Given the description of an element on the screen output the (x, y) to click on. 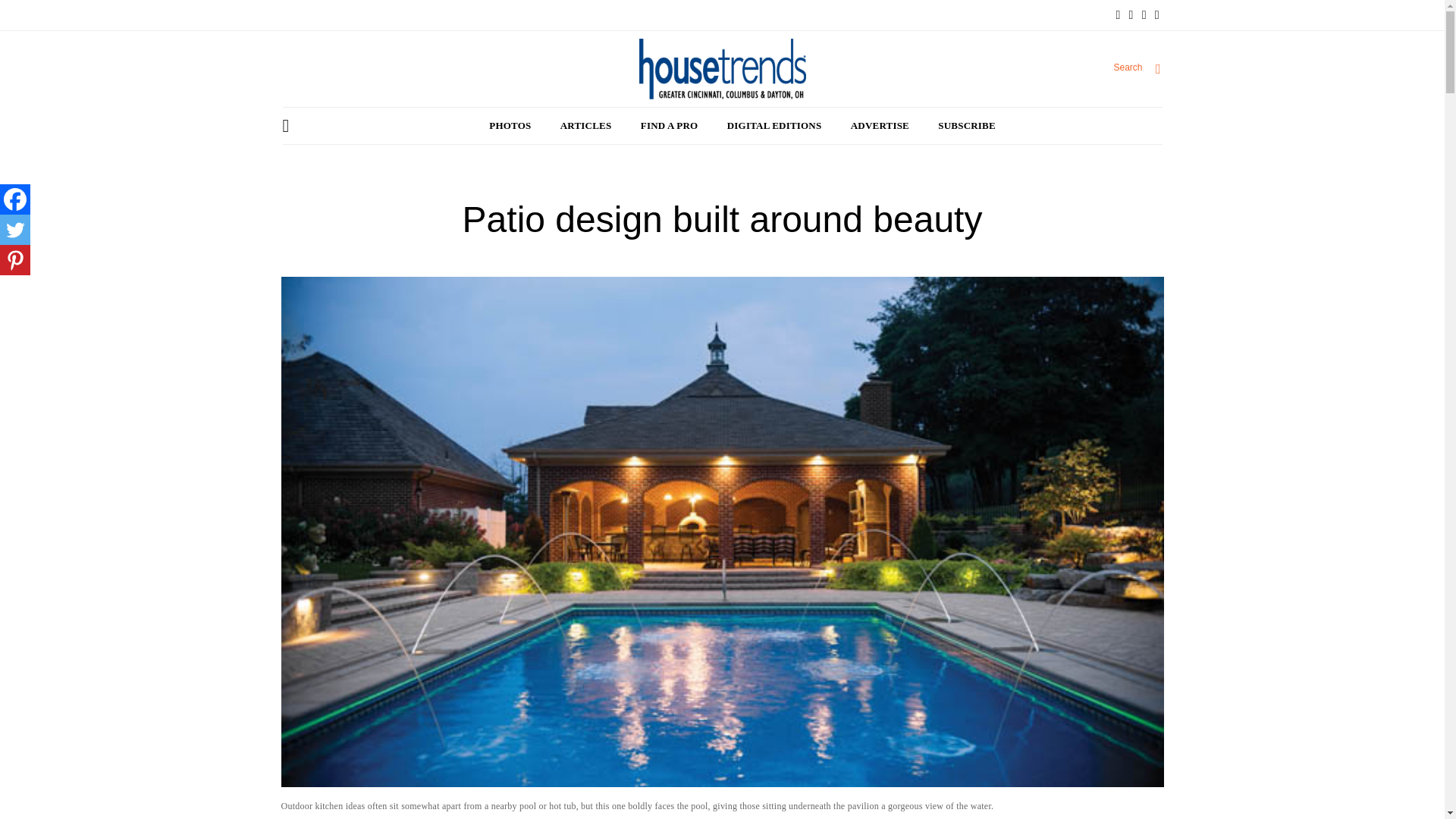
Twitter (15, 229)
Pinterest (15, 259)
Facebook (15, 199)
ARTICLES (585, 125)
PHOTOS (510, 125)
